Given the description of an element on the screen output the (x, y) to click on. 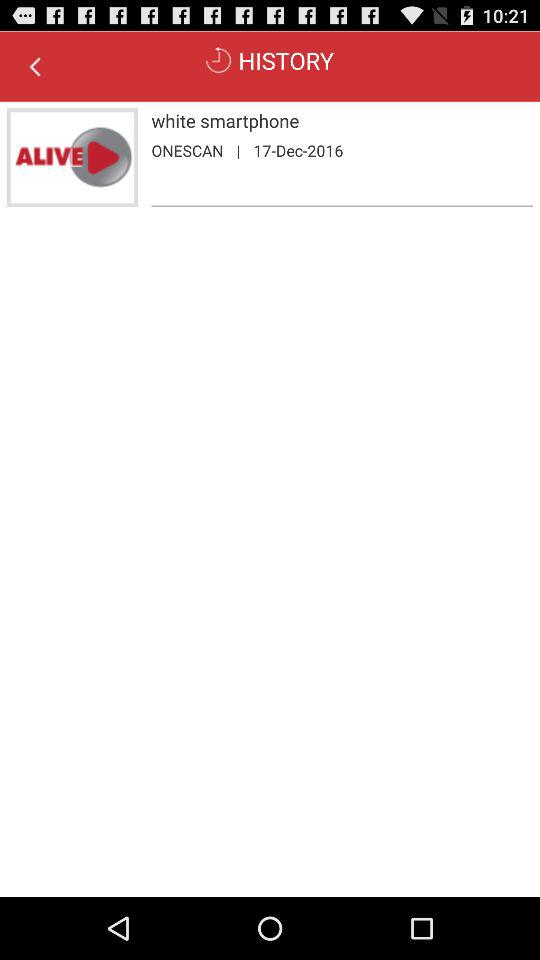
tap white smartphone item (342, 120)
